Given the description of an element on the screen output the (x, y) to click on. 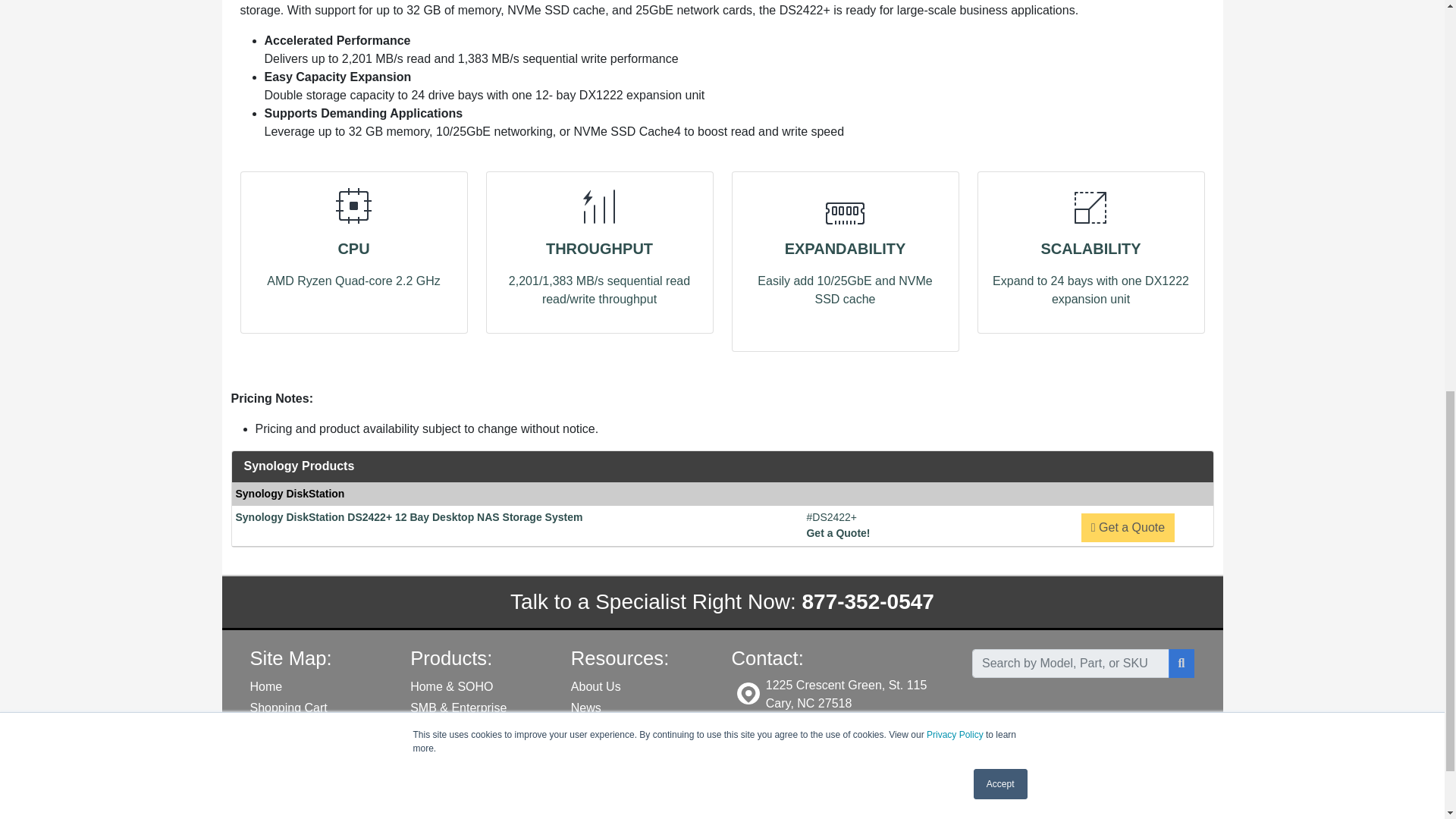
Twitter page (1074, 739)
Youtube page (1091, 739)
Facebook page (1058, 739)
LinkedIn page (1108, 739)
